Given the description of an element on the screen output the (x, y) to click on. 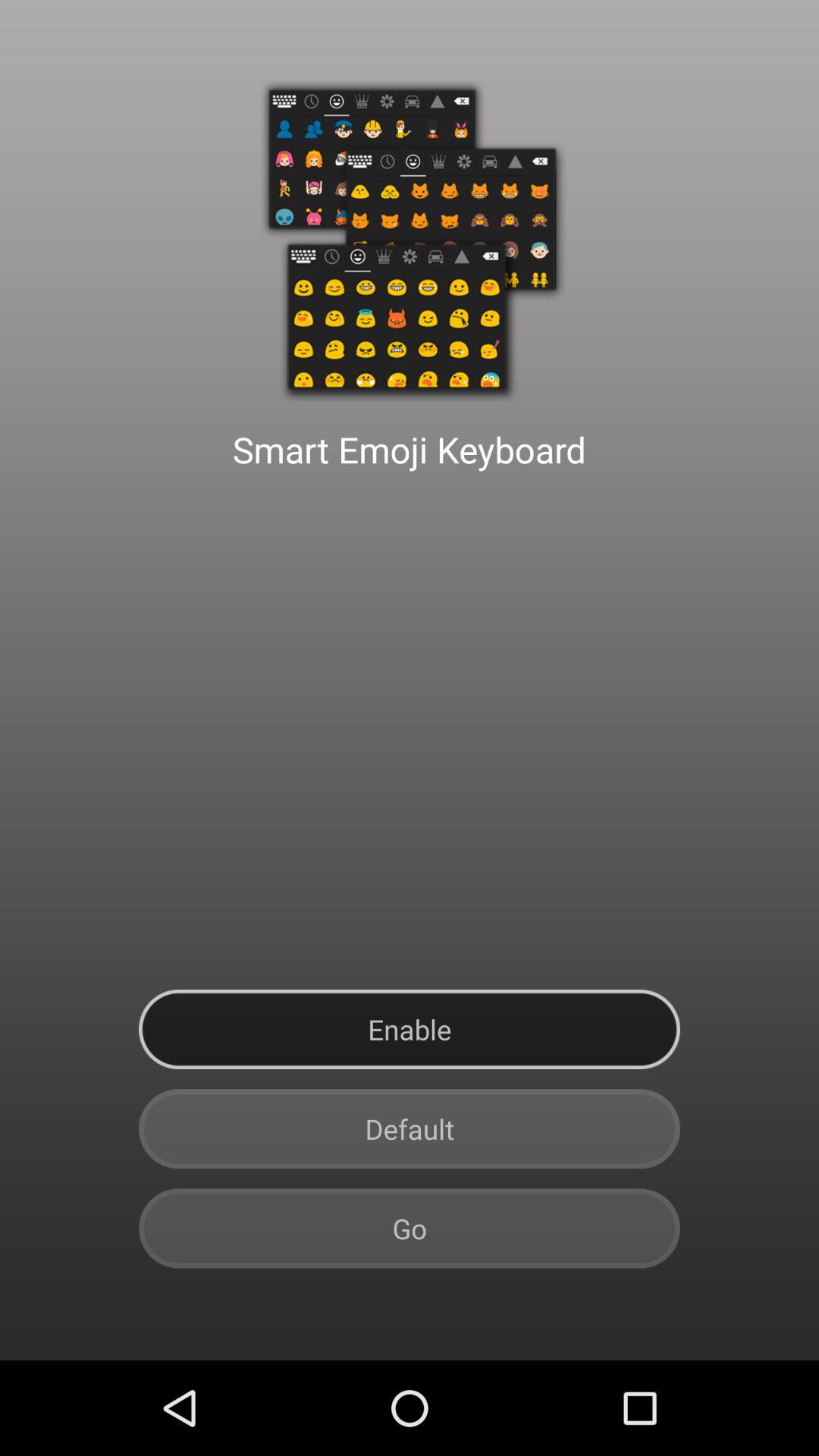
jump until go icon (409, 1228)
